Given the description of an element on the screen output the (x, y) to click on. 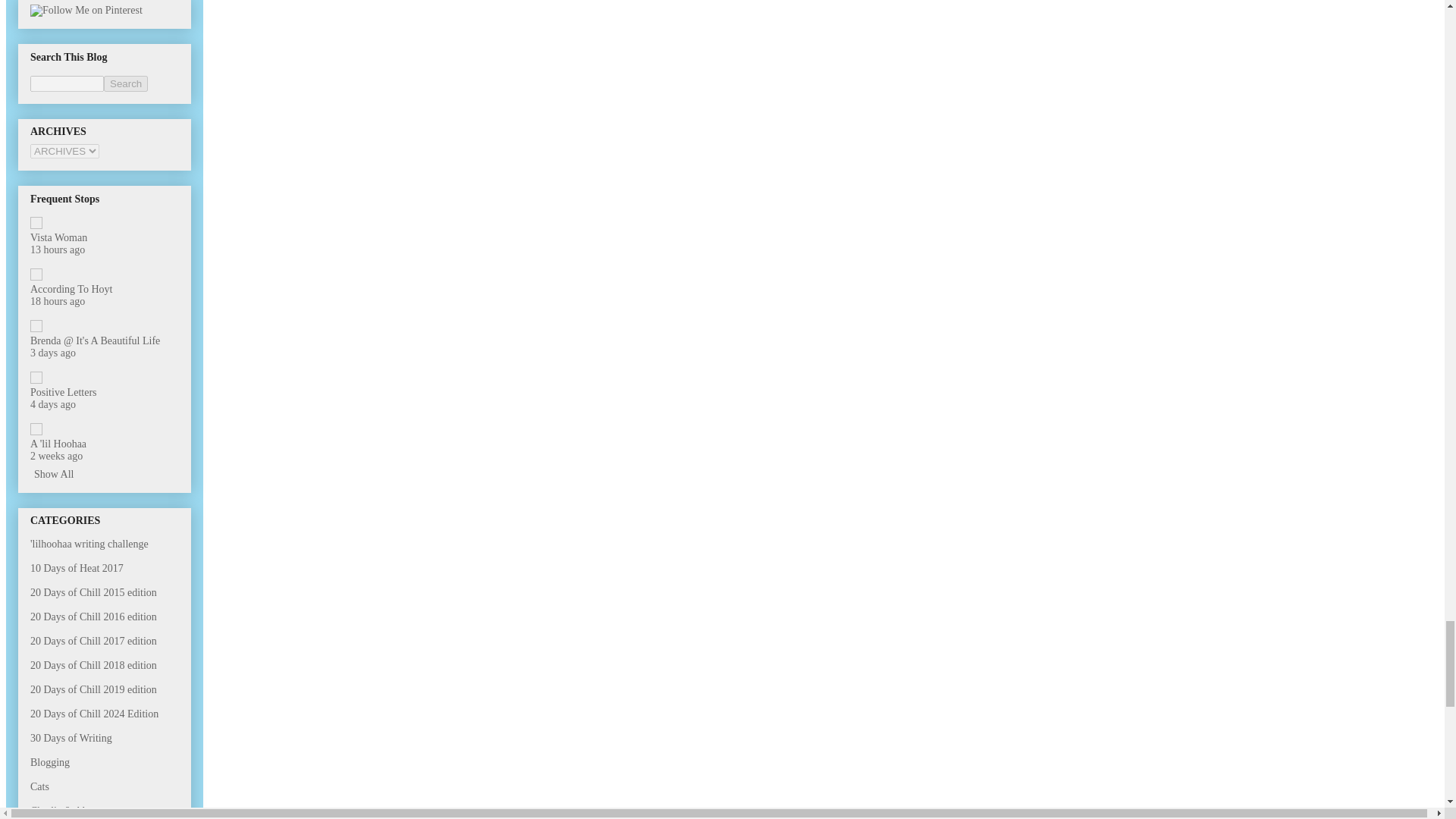
Search (125, 83)
search (125, 83)
search (66, 83)
Search (125, 83)
